Given the description of an element on the screen output the (x, y) to click on. 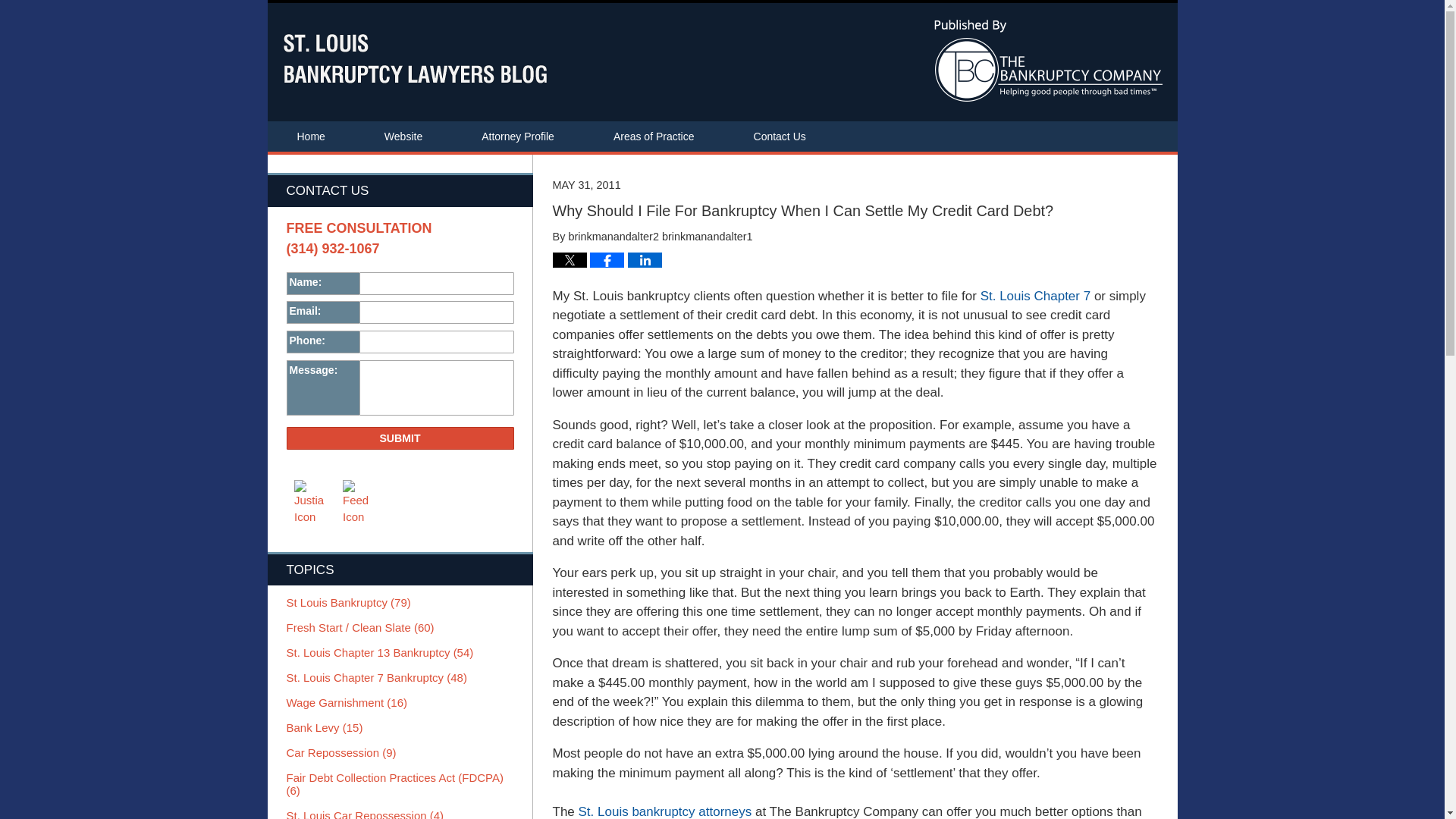
St. Louis bankruptcy attorneys (665, 811)
St. Louis Chapter 7 (1034, 296)
Please enter a valid phone number. (436, 341)
Home (309, 136)
Areas of Practice (653, 136)
Published By The Bankruptcy Company (1047, 60)
Feed (359, 502)
SUBMIT (399, 437)
St. Louis Bankruptcy Lawyers Blog (414, 58)
Website (403, 136)
